Given the description of an element on the screen output the (x, y) to click on. 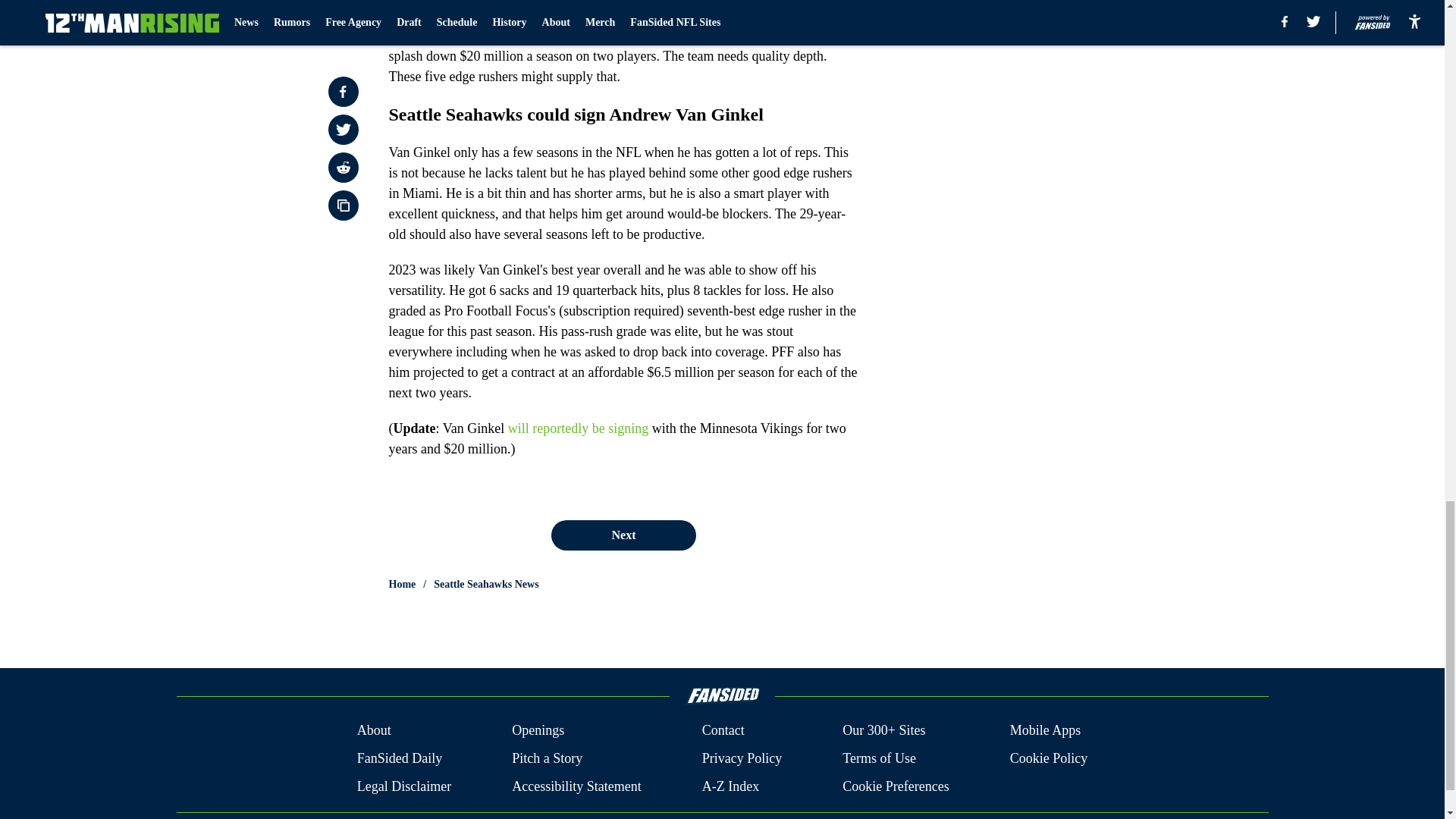
Seattle Seahawks News (485, 584)
Privacy Policy (742, 758)
Mobile Apps (1045, 730)
Terms of Use (879, 758)
will reportedly be signing (577, 427)
Contact (722, 730)
Next (622, 535)
Home (401, 584)
Openings (538, 730)
About (373, 730)
